Given the description of an element on the screen output the (x, y) to click on. 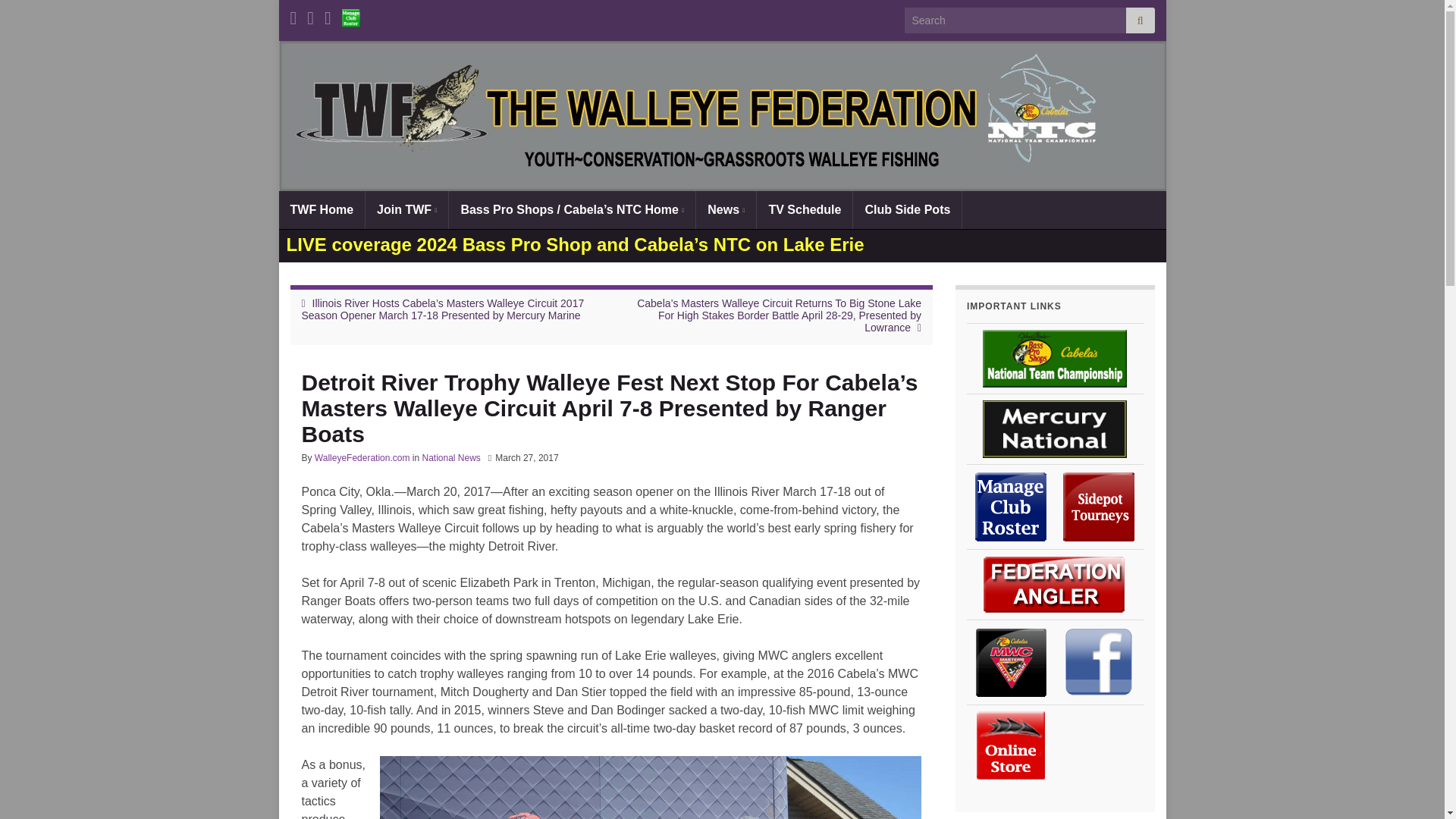
News (725, 209)
custom (350, 15)
TV Schedule (804, 209)
Club Side Pots (906, 209)
2017-03-27T11:05:07-05:00 (526, 457)
YouTube (327, 15)
TWF Home (322, 209)
National News (451, 457)
WalleyeFederation.com (362, 457)
Join TWF (406, 209)
Facebook (293, 15)
